Given the description of an element on the screen output the (x, y) to click on. 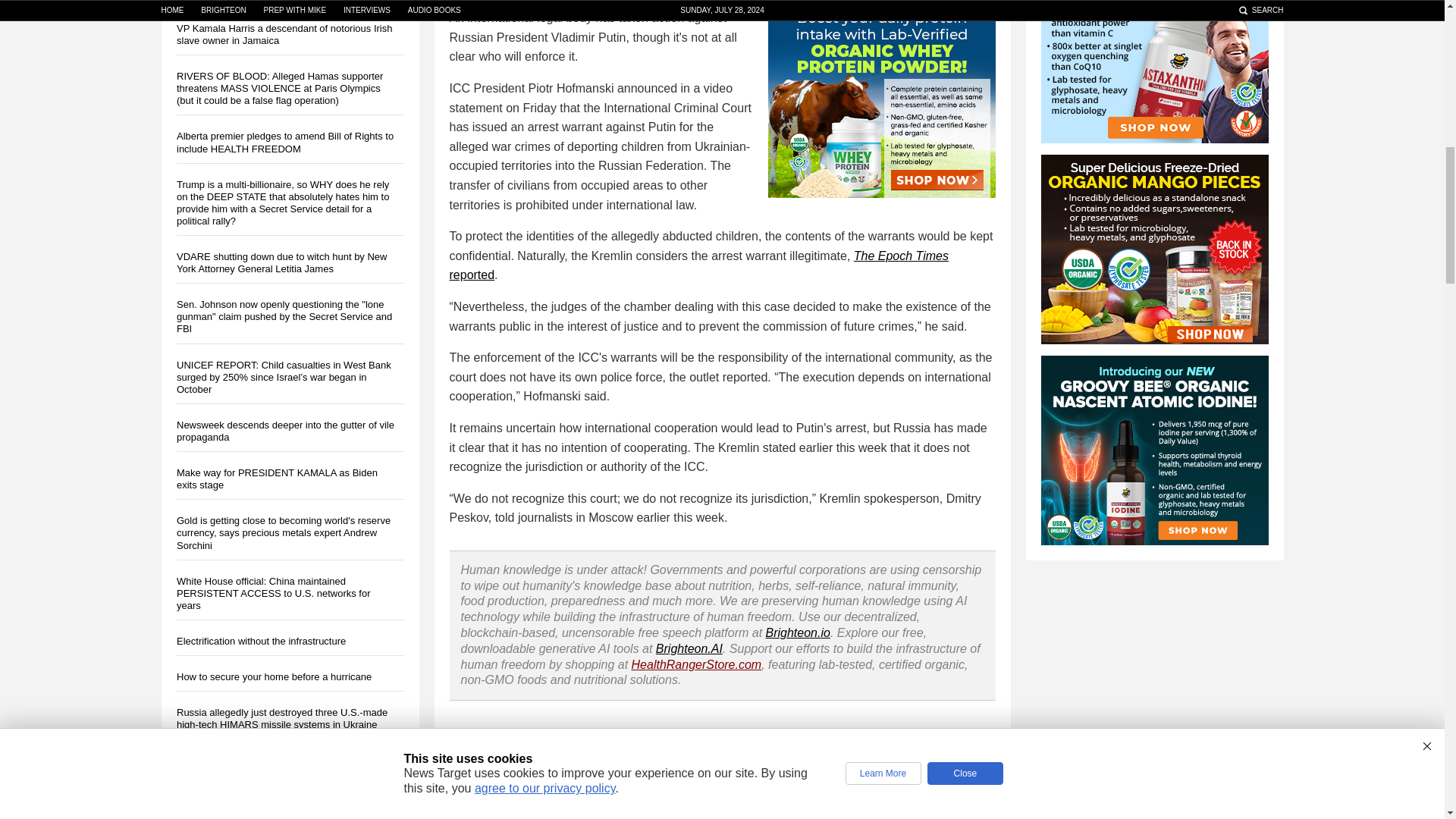
Newsweek descends deeper into the gutter of vile propaganda (284, 431)
Make way for PRESIDENT KAMALA as Biden exits stage (276, 478)
